Given the description of an element on the screen output the (x, y) to click on. 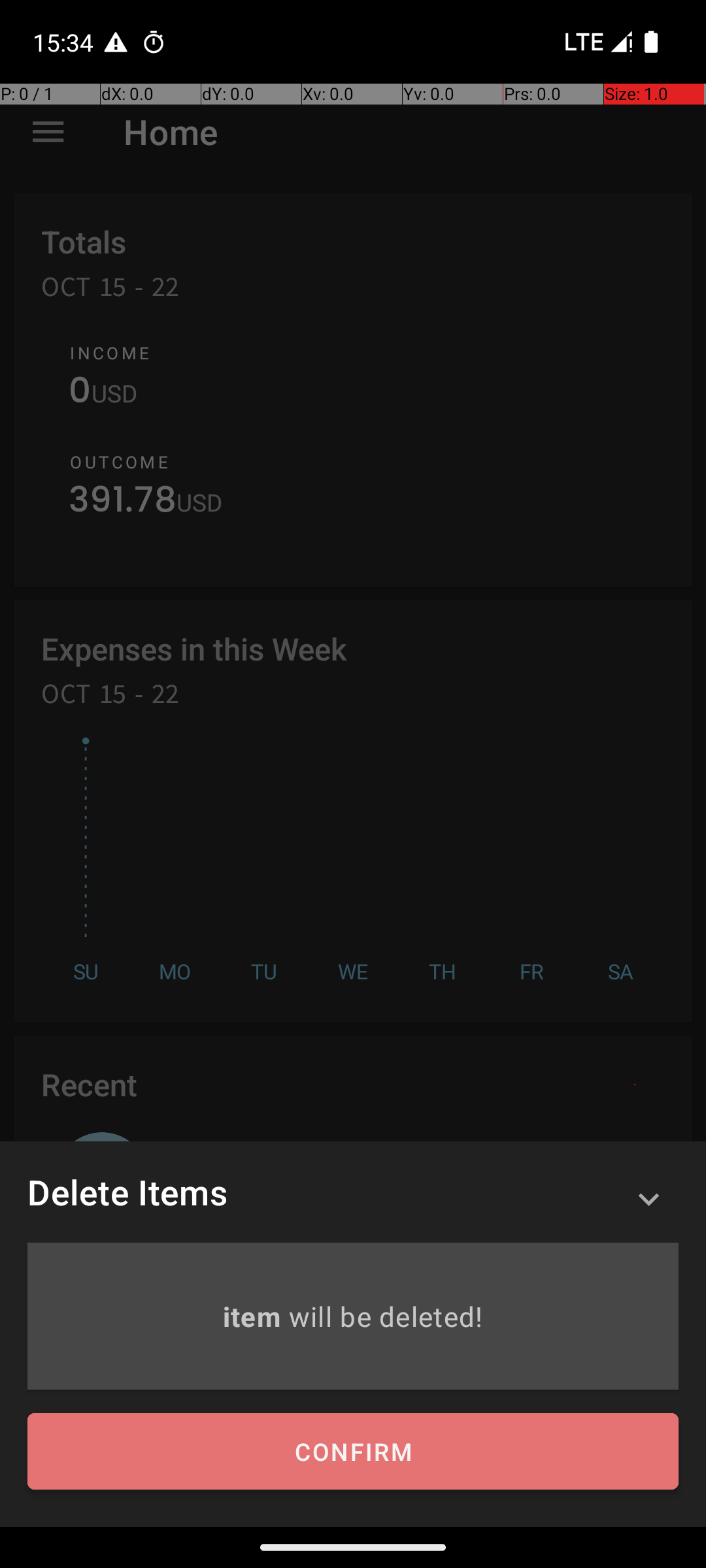
Delete Items Element type: android.widget.TextView (127, 1191)
item  Element type: android.widget.TextView (255, 1315)
will be deleted! Element type: android.widget.TextView (385, 1315)
CONFIRM Element type: android.widget.Button (352, 1451)
